Given the description of an element on the screen output the (x, y) to click on. 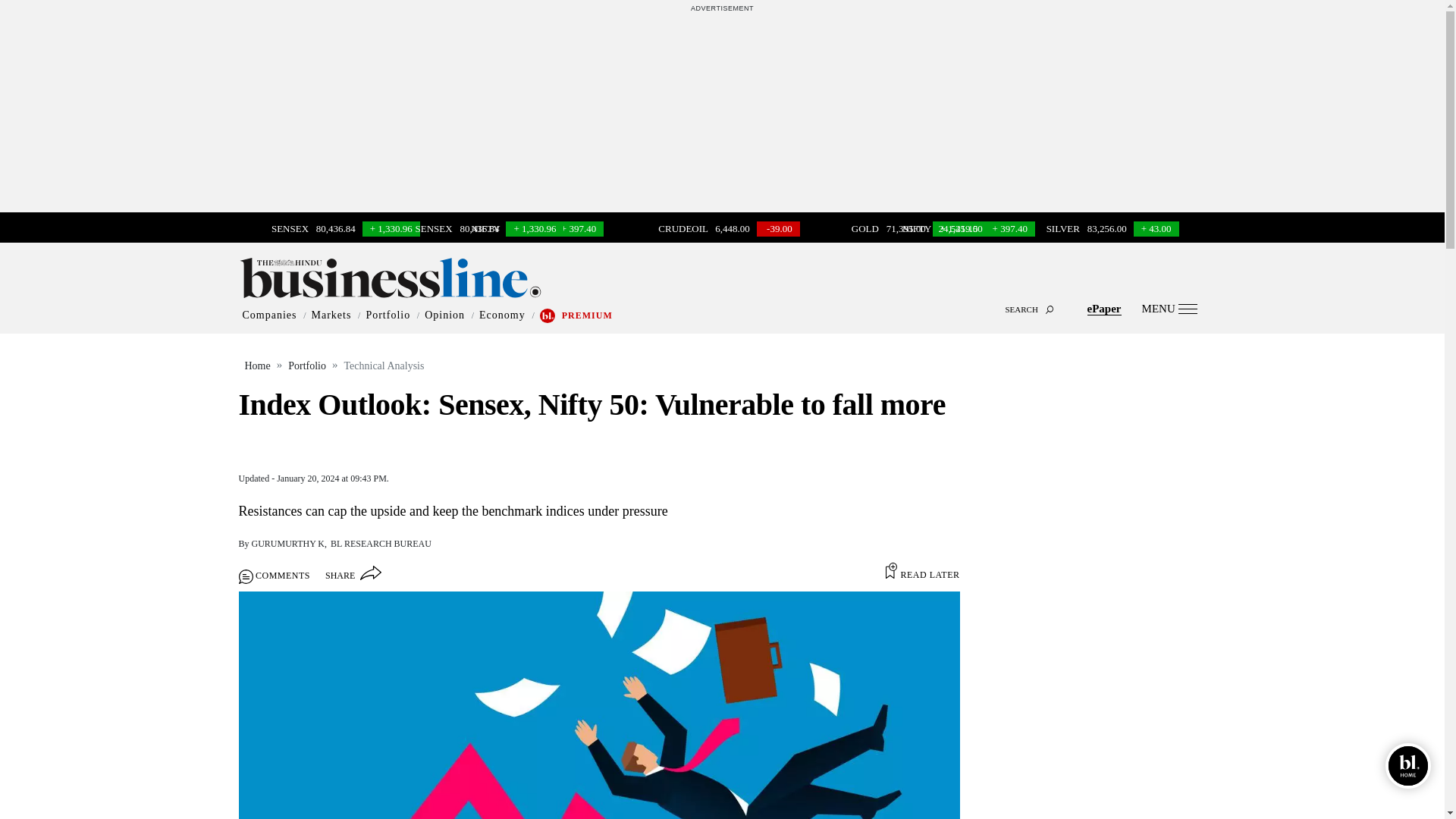
ePaper (1104, 308)
Companies (270, 315)
Economy (502, 315)
Opinion (444, 315)
SEARCH (721, 295)
MENU (1168, 308)
Portfolio (387, 315)
PREMIUM (587, 315)
Markets (330, 315)
